Given the description of an element on the screen output the (x, y) to click on. 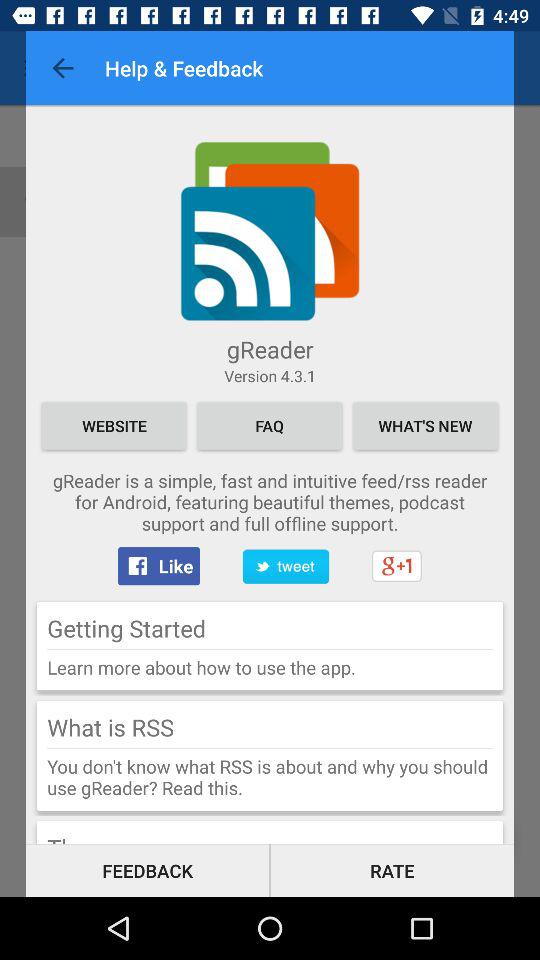
click icon below the version 4 3 item (114, 425)
